Given the description of an element on the screen output the (x, y) to click on. 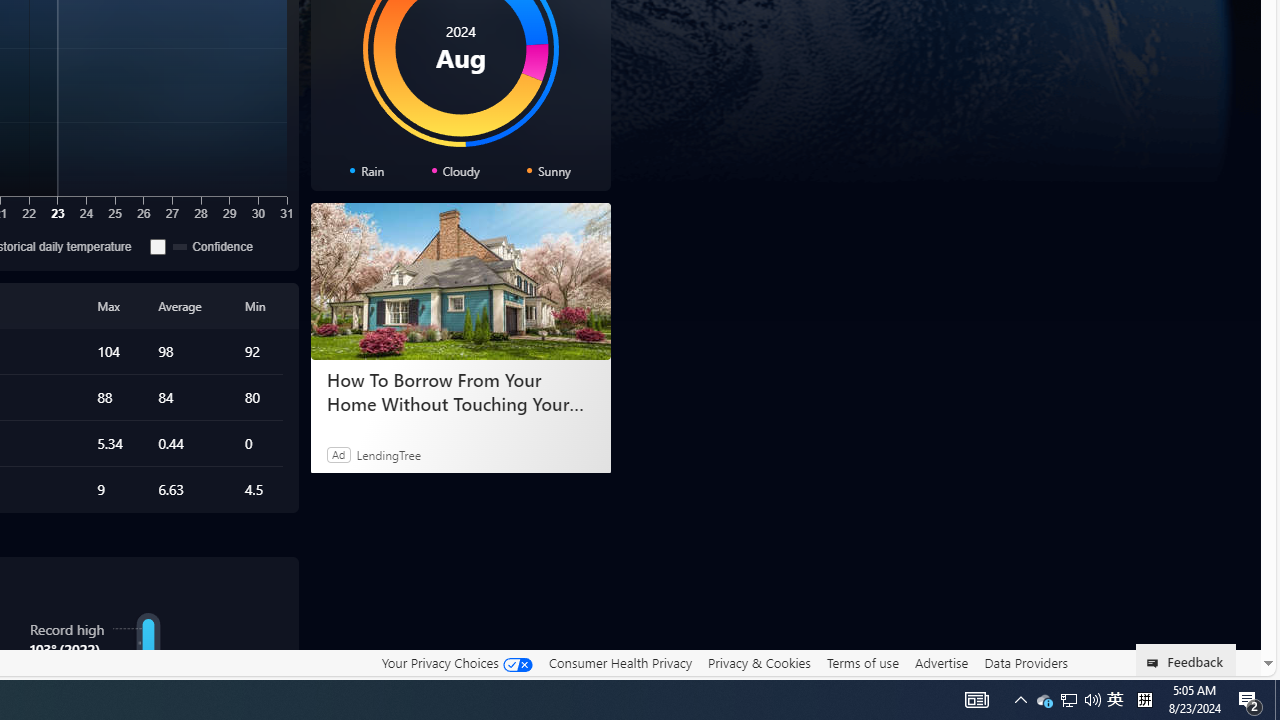
Terms of use (861, 662)
LendingTree (388, 453)
